Given the description of an element on the screen output the (x, y) to click on. 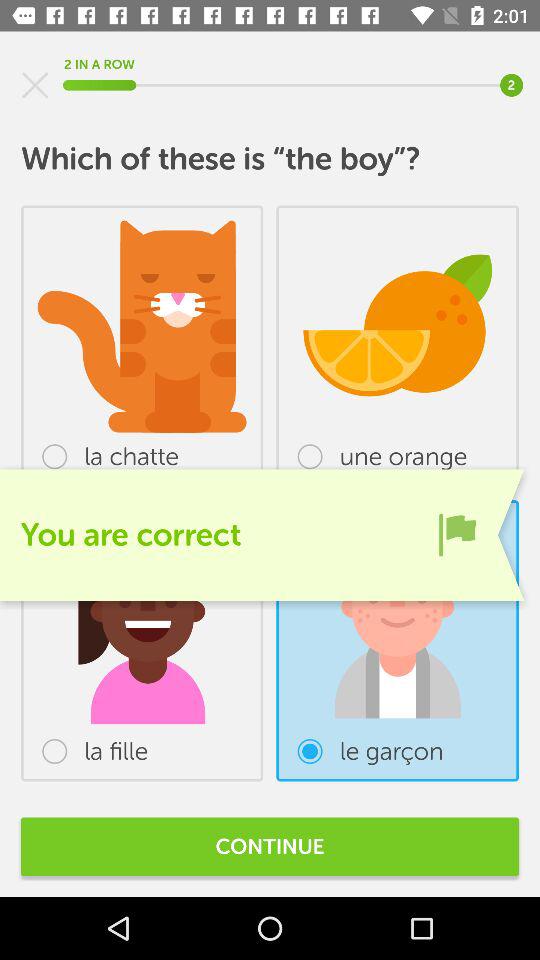
next question (457, 534)
